Given the description of an element on the screen output the (x, y) to click on. 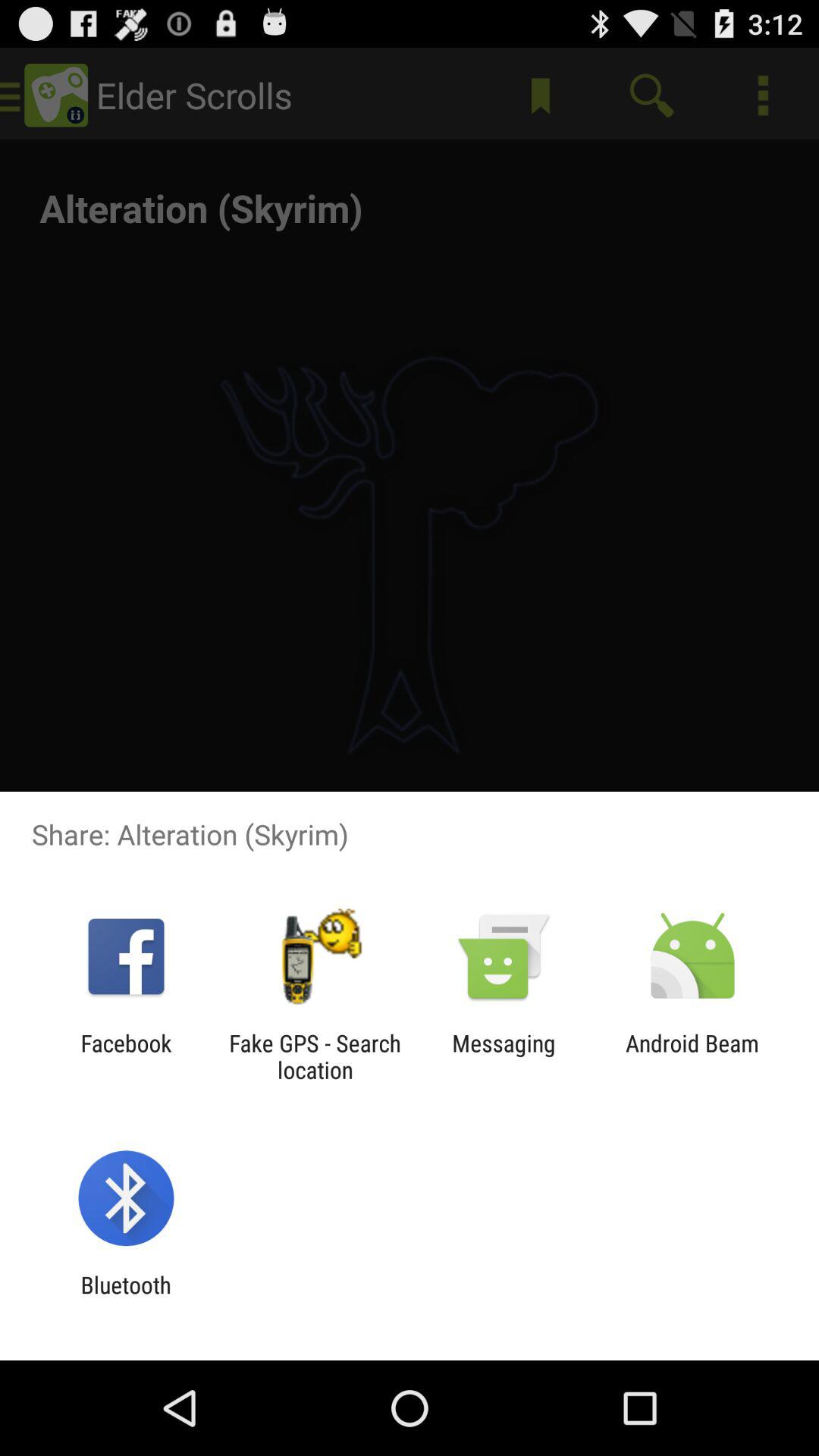
turn off bluetooth (125, 1298)
